Given the description of an element on the screen output the (x, y) to click on. 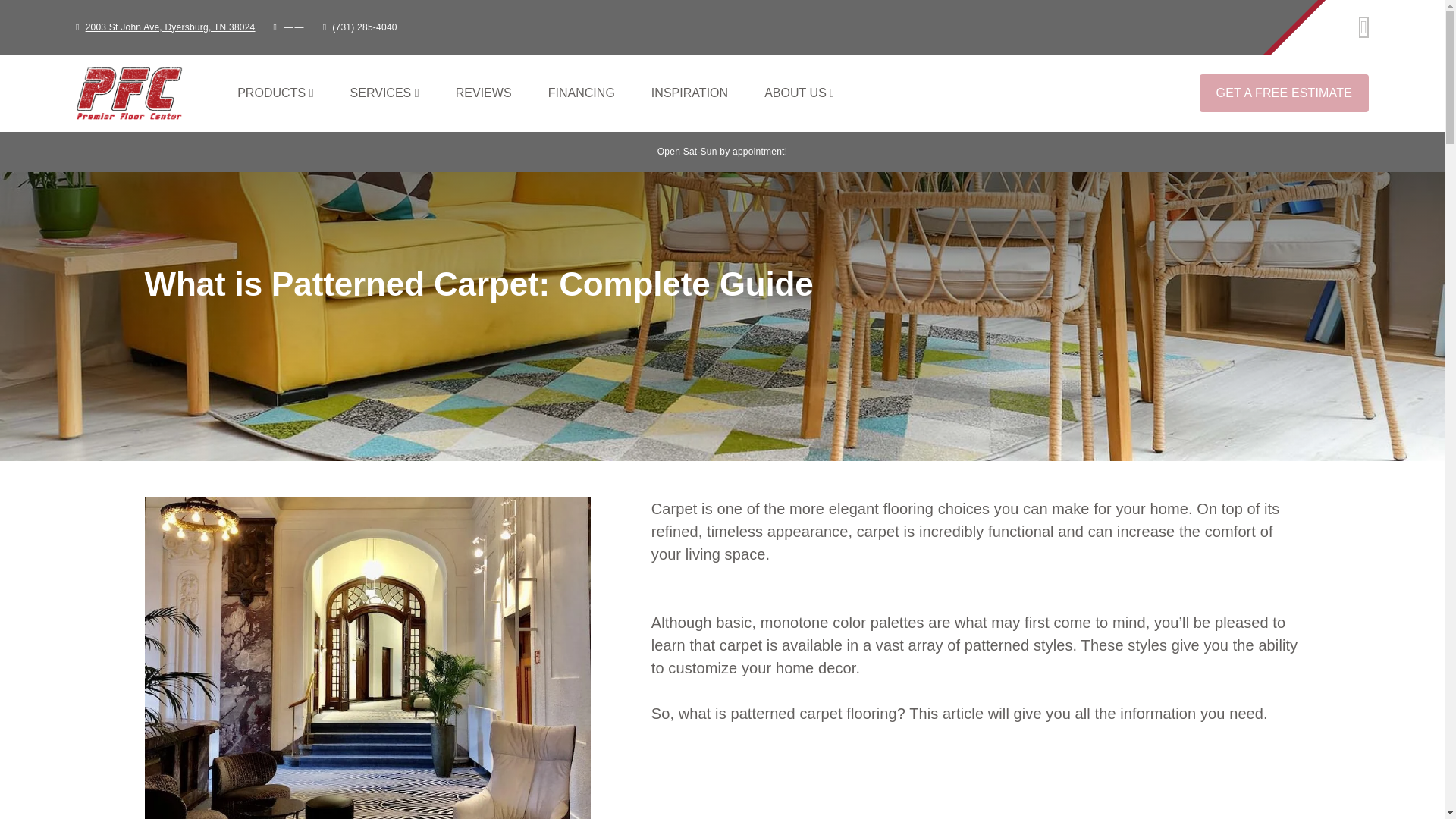
PRODUCTS (684, 92)
2003 St John Ave, Dyersburg, TN 38024 (684, 92)
